Given the description of an element on the screen output the (x, y) to click on. 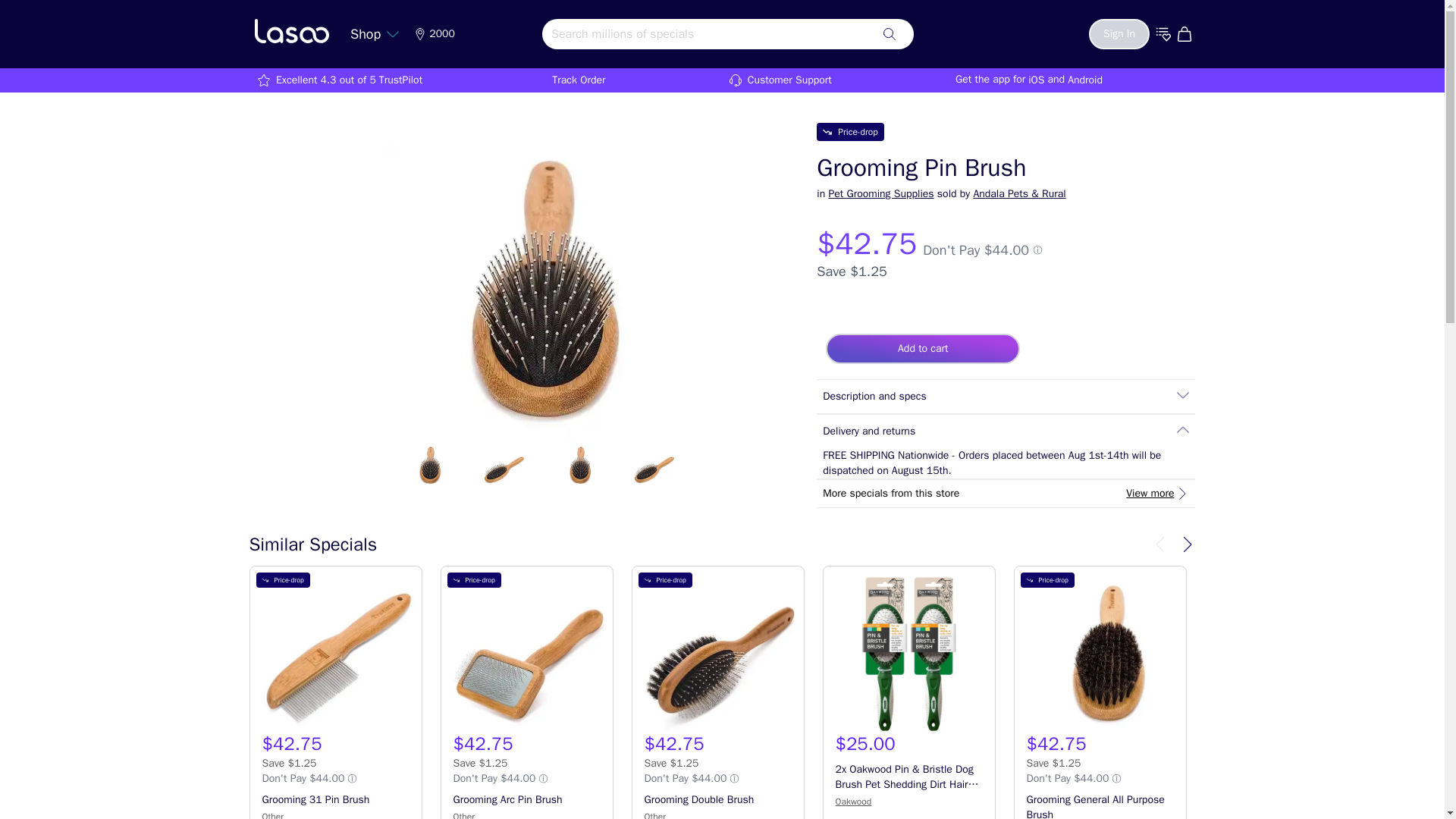
lasoo (291, 30)
Go to wishlist (1163, 33)
Grooming Arc Pin Brush (526, 654)
Cushy Pets Pet Grooming Brush (1291, 654)
Grooming 31 Pin Brush (336, 654)
Grooming Double Brush (717, 654)
Grooming General All Purpose Brush (1100, 654)
Shop (374, 33)
Go to cart (1185, 33)
